Given the description of an element on the screen output the (x, y) to click on. 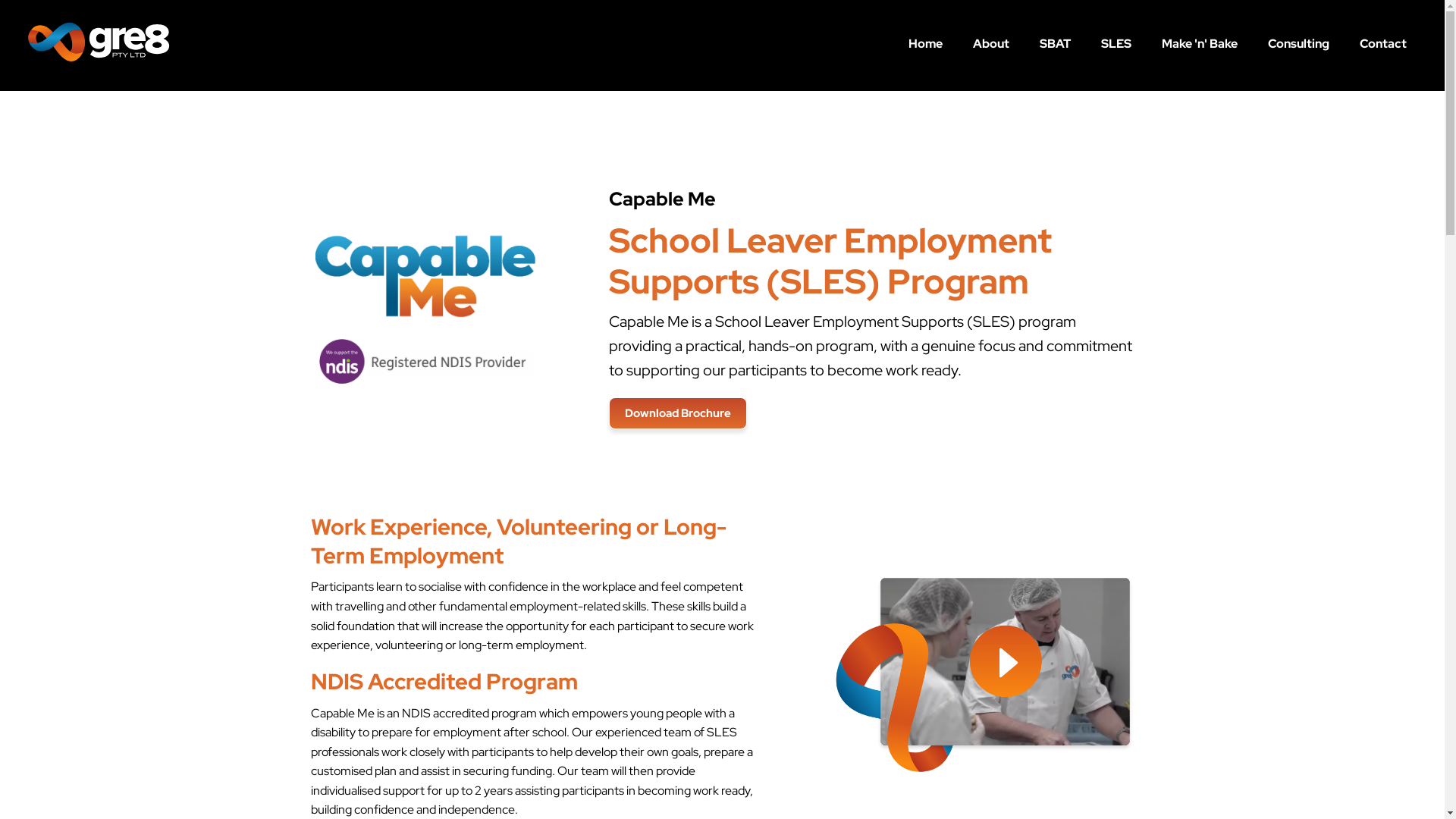
About Element type: text (990, 43)
Download Brochure Element type: text (677, 413)
SBAT Element type: text (1054, 43)
Make 'n' Bake Element type: text (1199, 43)
Contact Element type: text (1382, 43)
Consulting Element type: text (1298, 43)
SLES Element type: text (1115, 43)
Home Element type: text (925, 43)
